Given the description of an element on the screen output the (x, y) to click on. 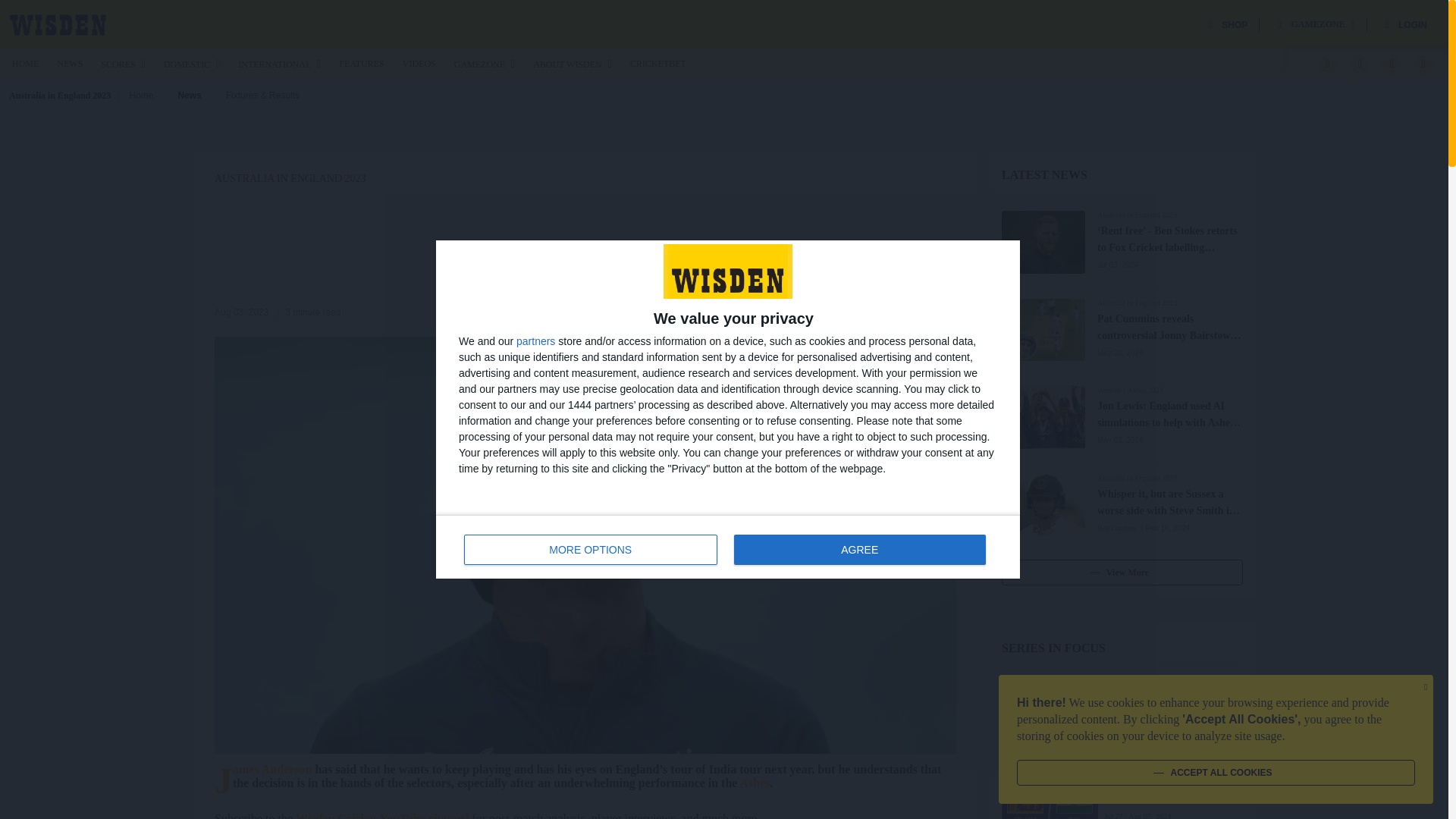
ABOUT WISDEN (571, 63)
VIDEOS (419, 62)
partners (535, 340)
DOMESTIC (191, 63)
AGREE (859, 549)
Twitter (1359, 64)
wisden-logo (57, 24)
SHOP (1227, 24)
Login (1406, 24)
GAMEZONE (1316, 24)
MORE OPTIONS (590, 549)
FEATURES (361, 62)
HOME (25, 62)
INTERNATIONAL (279, 63)
